Given the description of an element on the screen output the (x, y) to click on. 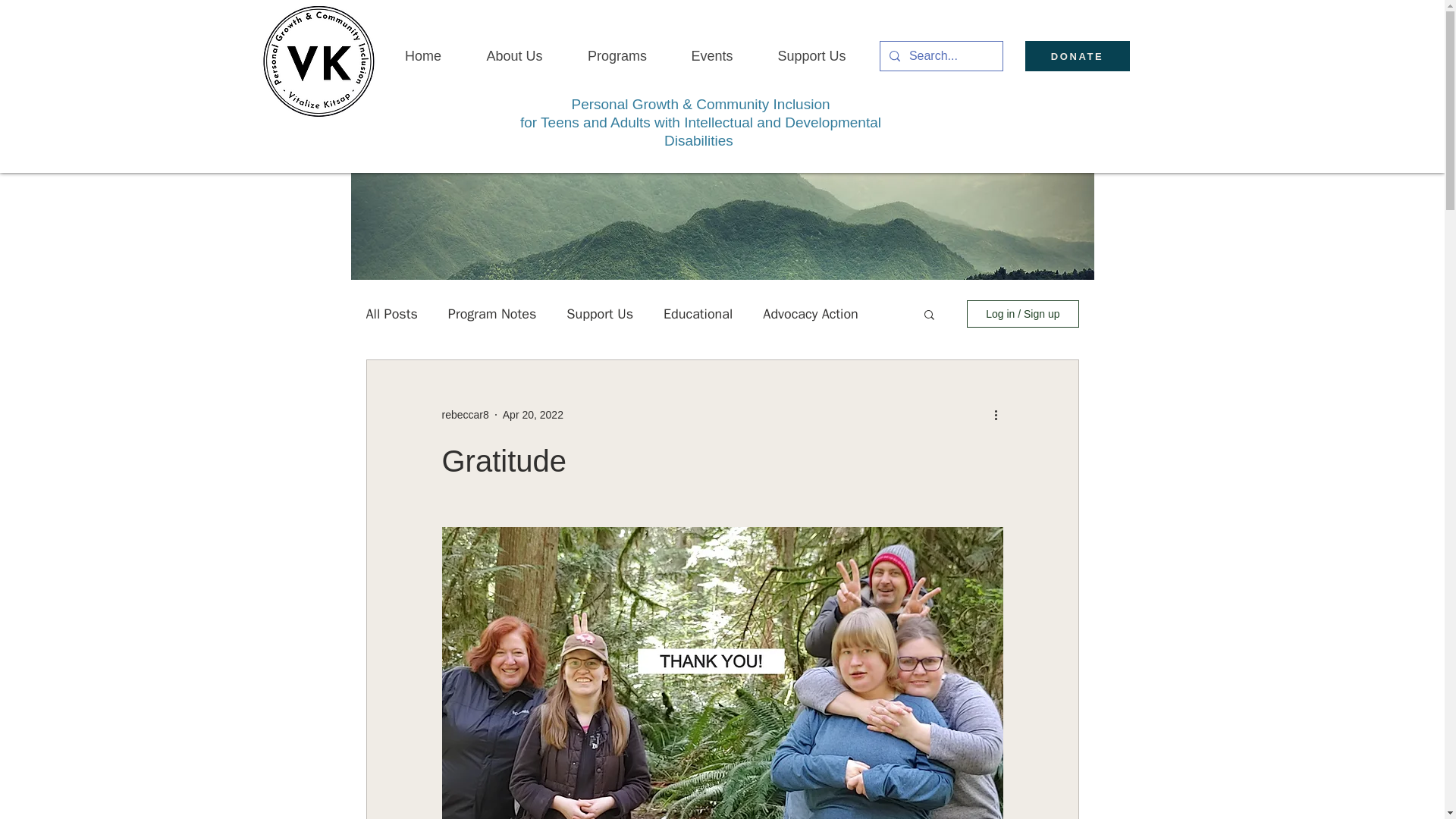
Home (422, 55)
Apr 20, 2022 (532, 414)
rebeccar8 (464, 415)
Events (711, 55)
Advocacy Action (809, 313)
Program Notes (492, 313)
DONATE (1077, 55)
Educational (697, 313)
All Posts (390, 313)
Support Us (599, 313)
